Given the description of an element on the screen output the (x, y) to click on. 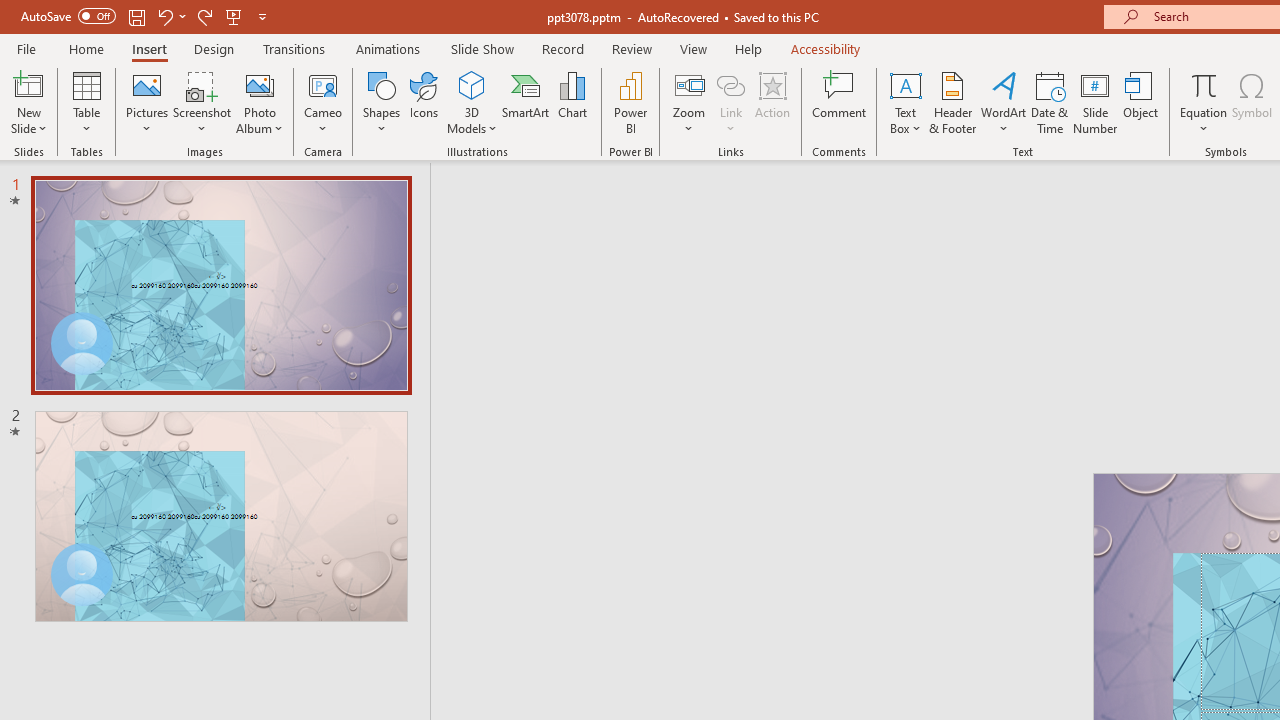
Screenshot (202, 102)
Pictures (147, 102)
Header & Footer... (952, 102)
SmartArt... (525, 102)
New Photo Album... (259, 84)
Photo Album... (259, 102)
